Given the description of an element on the screen output the (x, y) to click on. 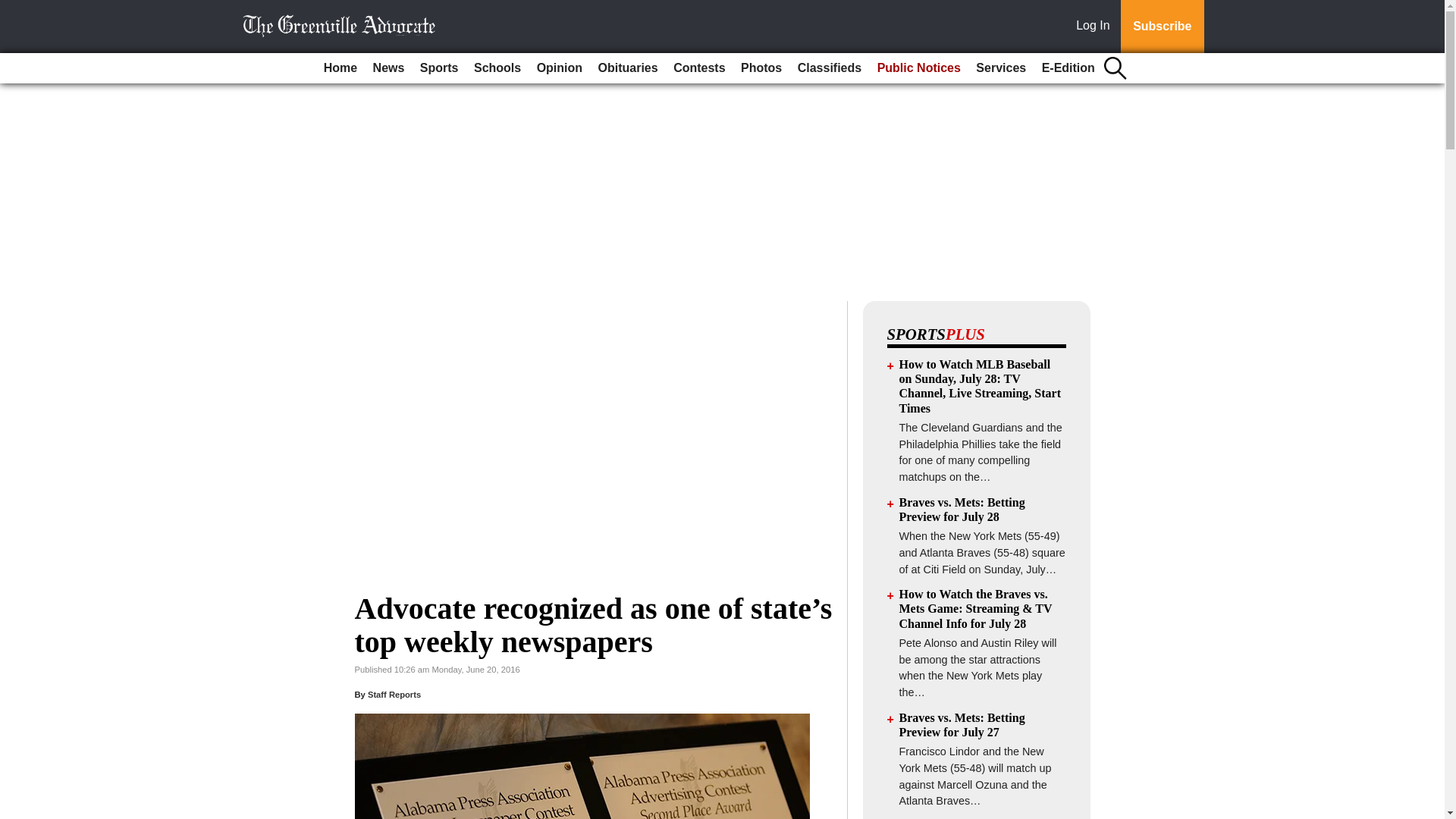
Obituaries (627, 68)
Photos (761, 68)
Contests (698, 68)
Classifieds (829, 68)
Home (339, 68)
Opinion (559, 68)
Go (13, 9)
Subscribe (1162, 26)
Public Notices (918, 68)
Log In (1095, 26)
Schools (497, 68)
E-Edition (1067, 68)
Sports (438, 68)
News (388, 68)
